Given the description of an element on the screen output the (x, y) to click on. 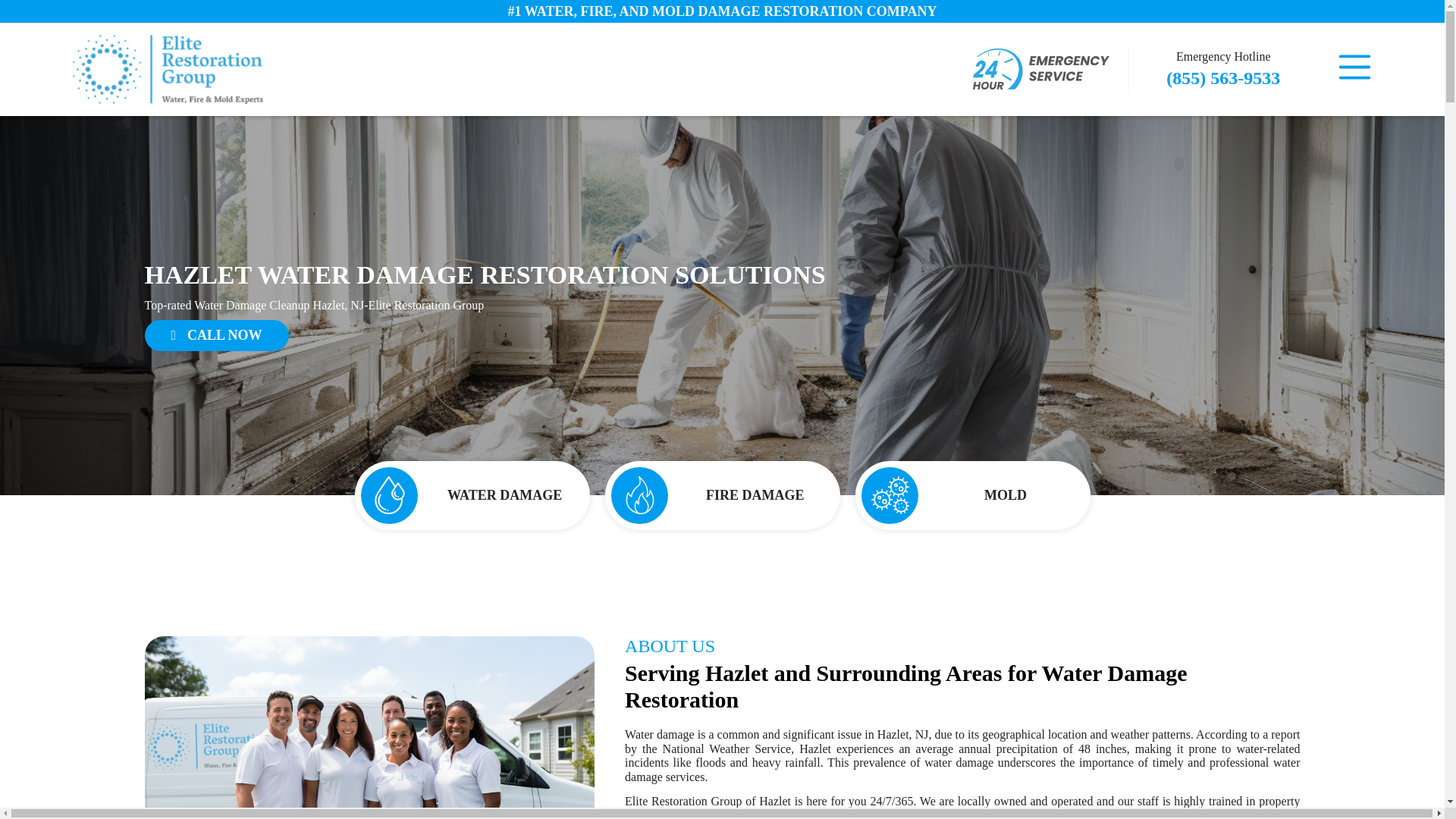
FIRE DAMAGE (722, 495)
CALL NOW (216, 335)
MOLD (973, 495)
WATER DAMAGE (472, 495)
